Given the description of an element on the screen output the (x, y) to click on. 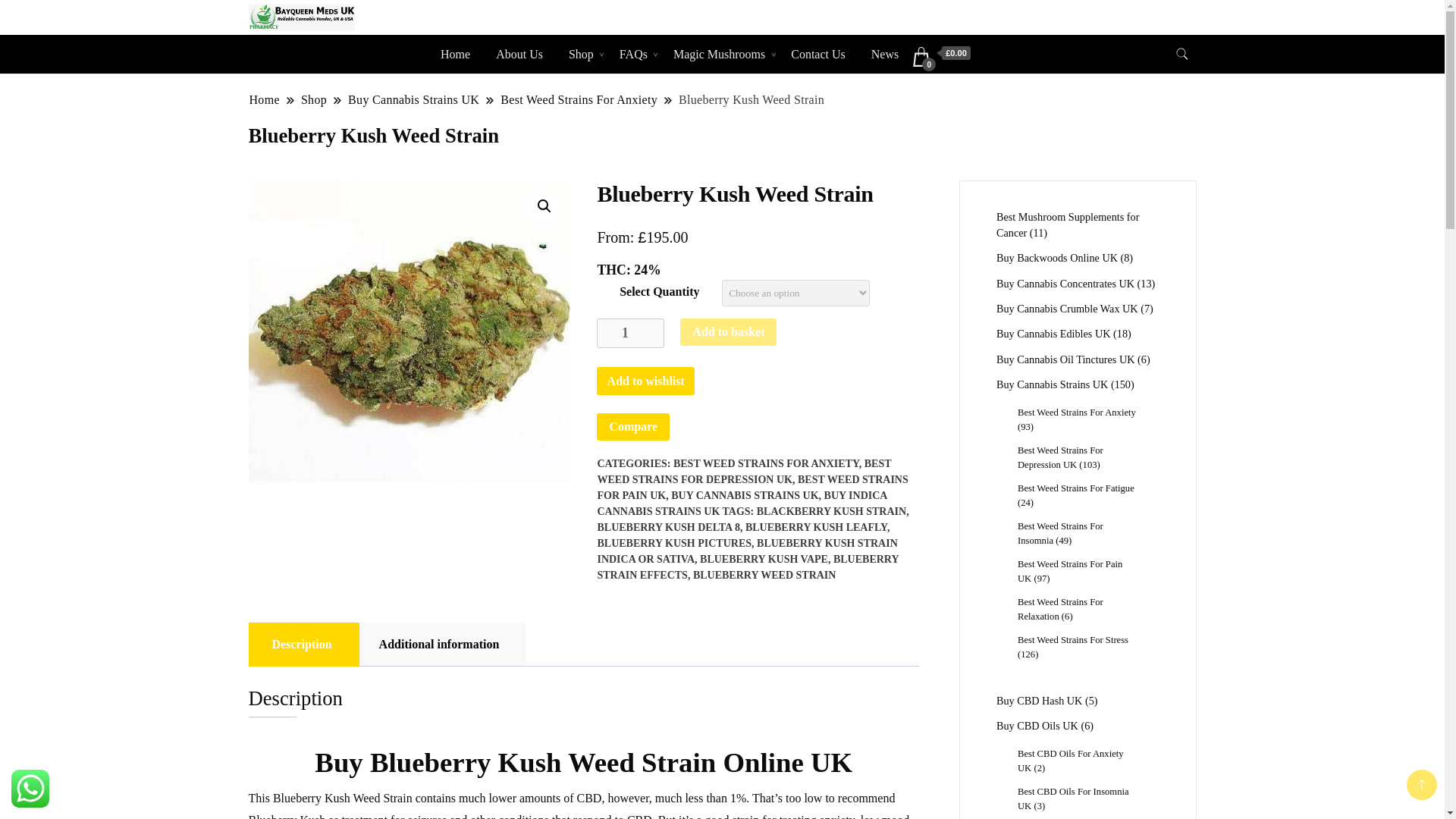
Home (455, 54)
Contact Us (818, 54)
About Us (519, 54)
Shop (581, 54)
News (885, 54)
FAQs (634, 54)
1 (629, 333)
BayQueen Meds UK (444, 34)
Magic Mushrooms (719, 54)
Blueberry Kush Weed Strain (409, 341)
